Given the description of an element on the screen output the (x, y) to click on. 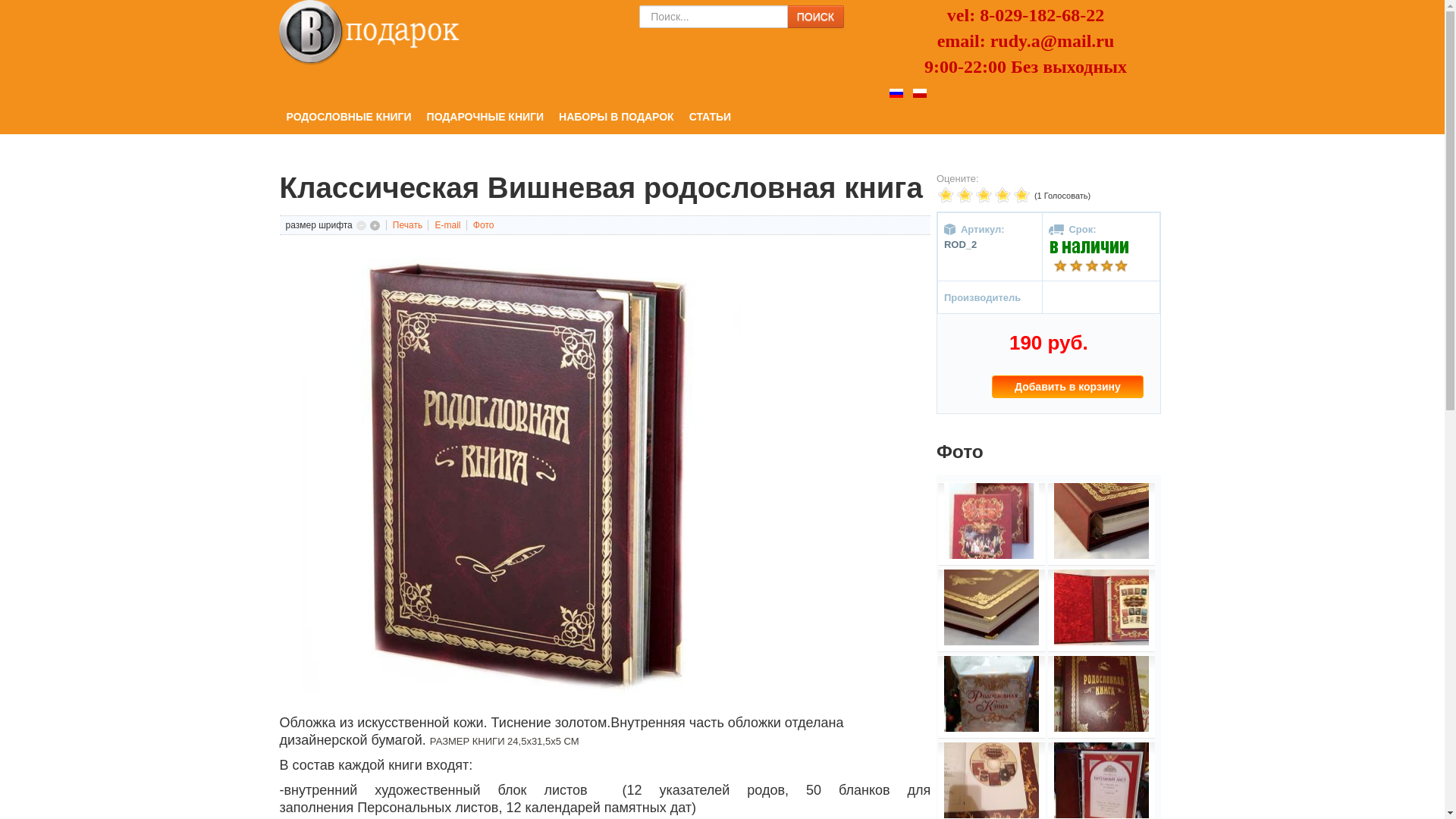
Polskie (pl) Element type: hover (919, 92)
Click to enlarge image 2.JPG Element type: hover (1101, 693)
Click to enlarge image 1.jpg Element type: hover (991, 520)
4 Element type: text (974, 195)
2 Element type: text (955, 195)
Click to enlarge image 11.jpg Element type: hover (991, 607)
Click to enlarge image 10.jpg Element type: hover (1101, 520)
Click to enlarge image 4.jpg Element type: hover (1101, 780)
3 Element type: text (964, 195)
Click to enlarge image 3.JPG Element type: hover (991, 780)
E-mail Element type: text (448, 224)
5 Element type: text (983, 195)
1 Element type: text (945, 195)
Click to enlarge image 13.jpg Element type: hover (991, 693)
Click to enlarge image 12.jpg Element type: hover (1101, 607)
